Given the description of an element on the screen output the (x, y) to click on. 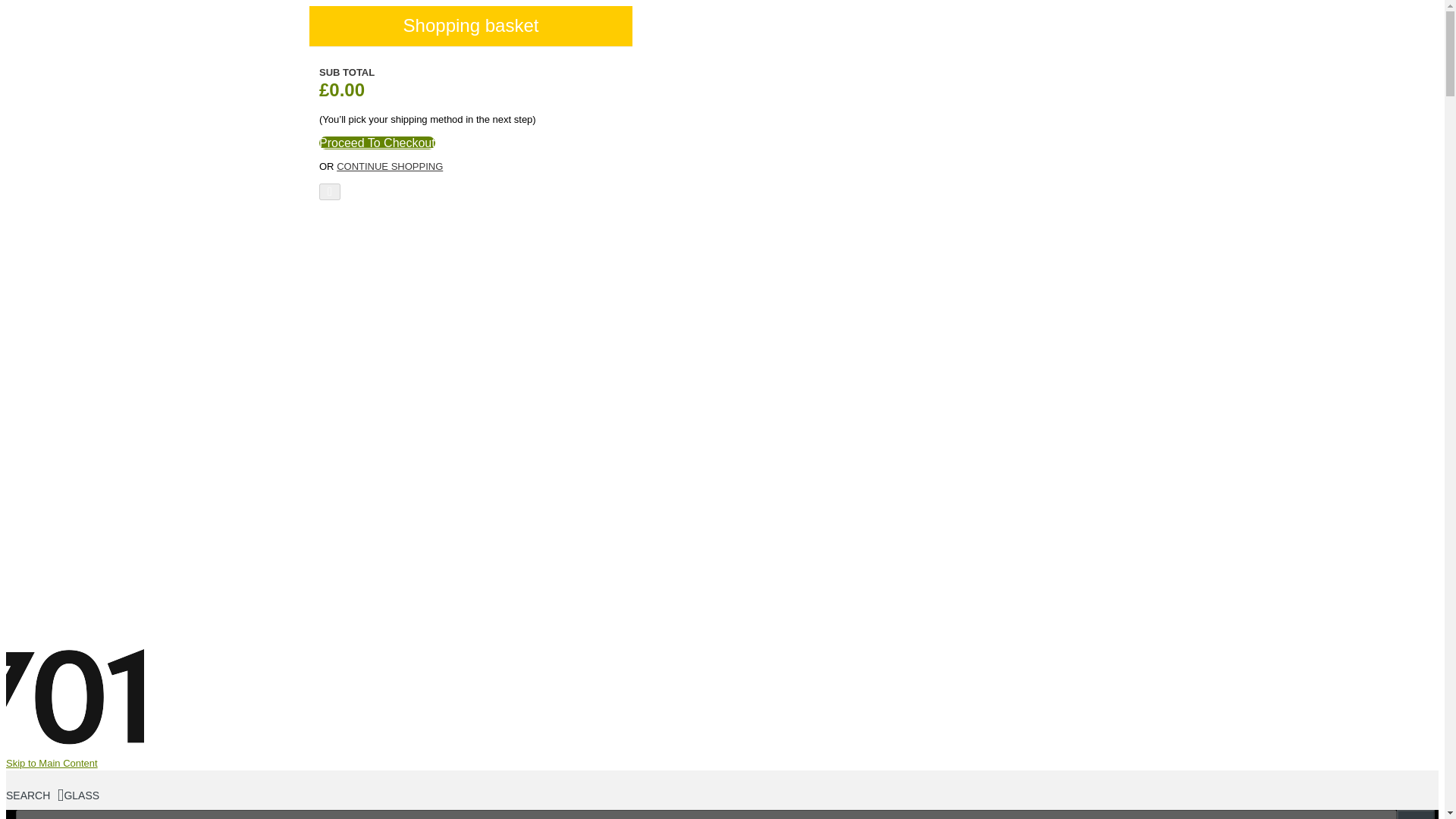
Skip to Main Content (51, 763)
Search (1415, 814)
CONTINUE SHOPPING (389, 165)
SEARCHGLASS (52, 795)
Proceed To Checkout (376, 142)
